Given the description of an element on the screen output the (x, y) to click on. 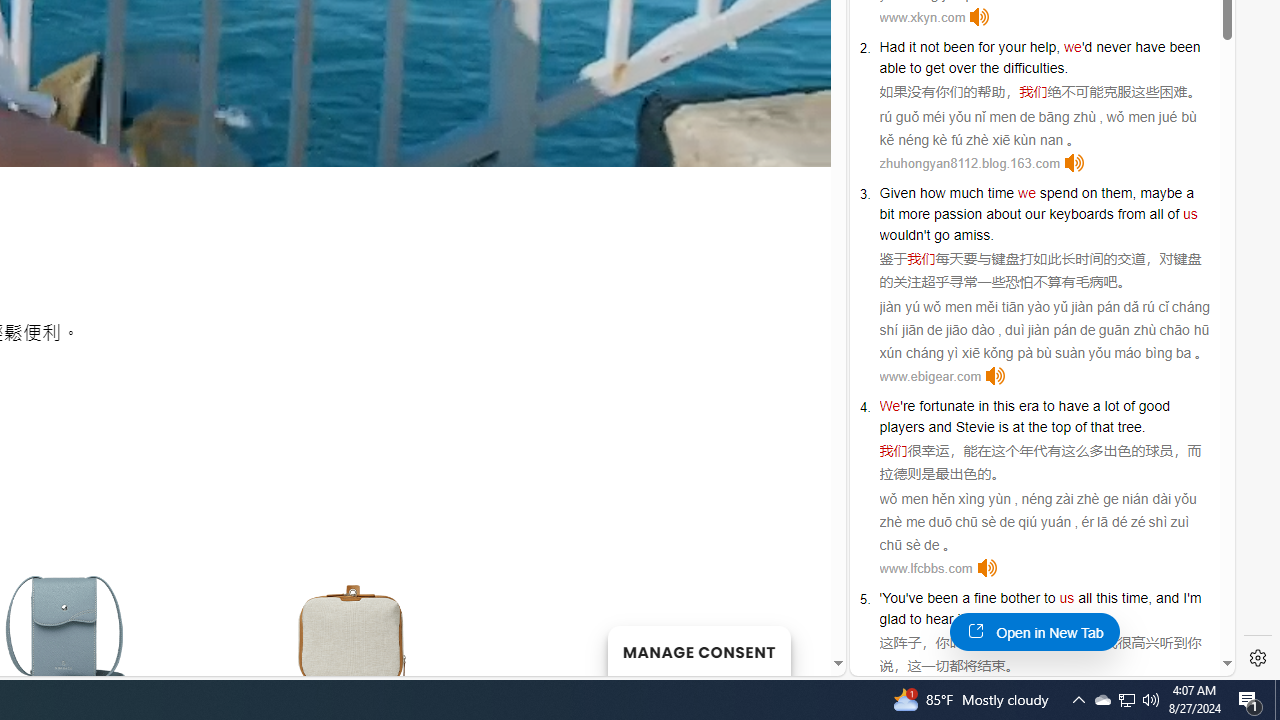
MANAGE CONSENT (698, 650)
of (1173, 213)
to (1048, 405)
a bit (1036, 203)
www.ebigear.com (930, 375)
, (1150, 597)
a (966, 597)
